Given the description of an element on the screen output the (x, y) to click on. 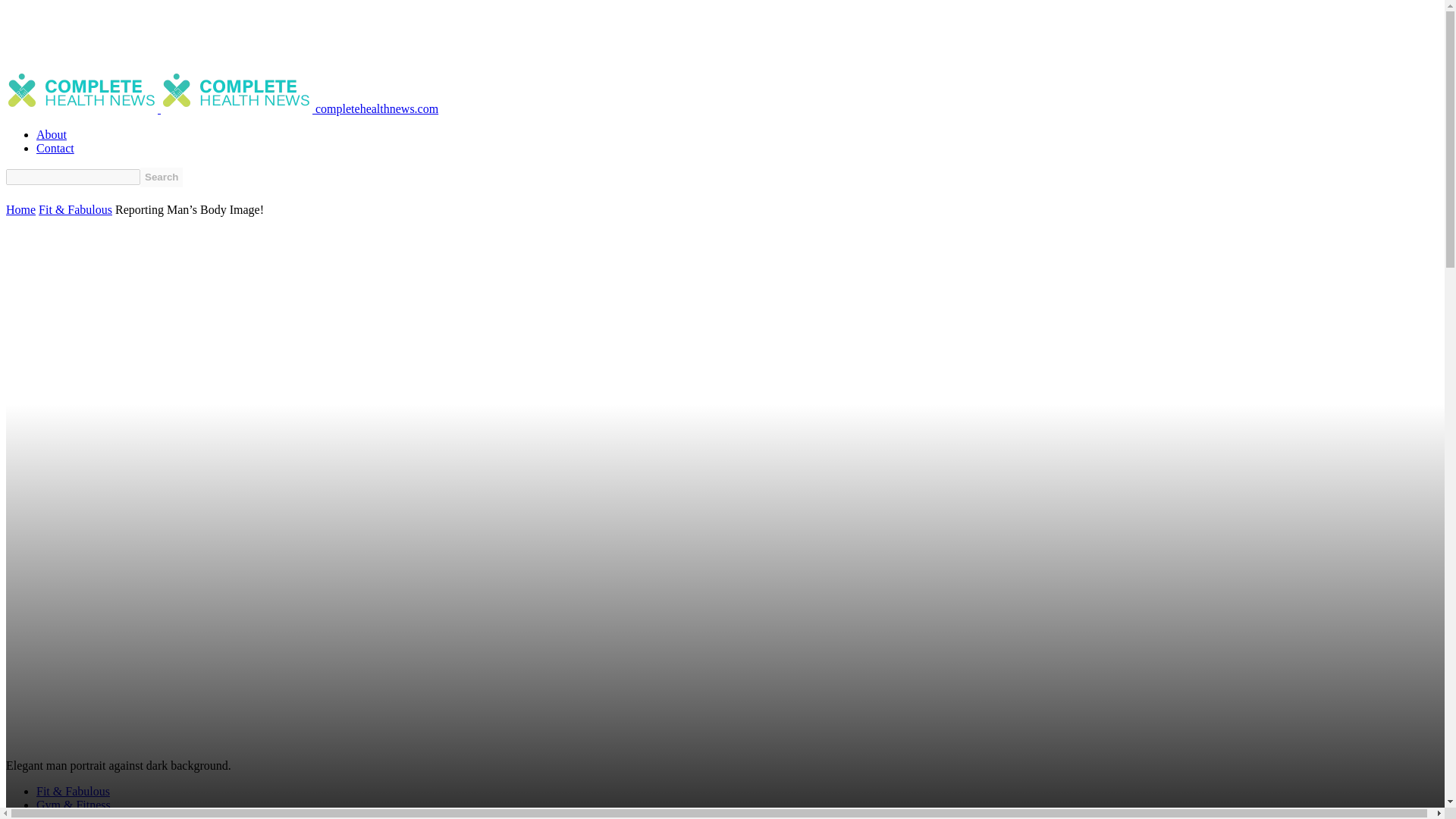
Search (161, 177)
About (51, 133)
completehealthnews.com (299, 108)
Home (19, 209)
Search (161, 177)
Contact (55, 147)
